Given the description of an element on the screen output the (x, y) to click on. 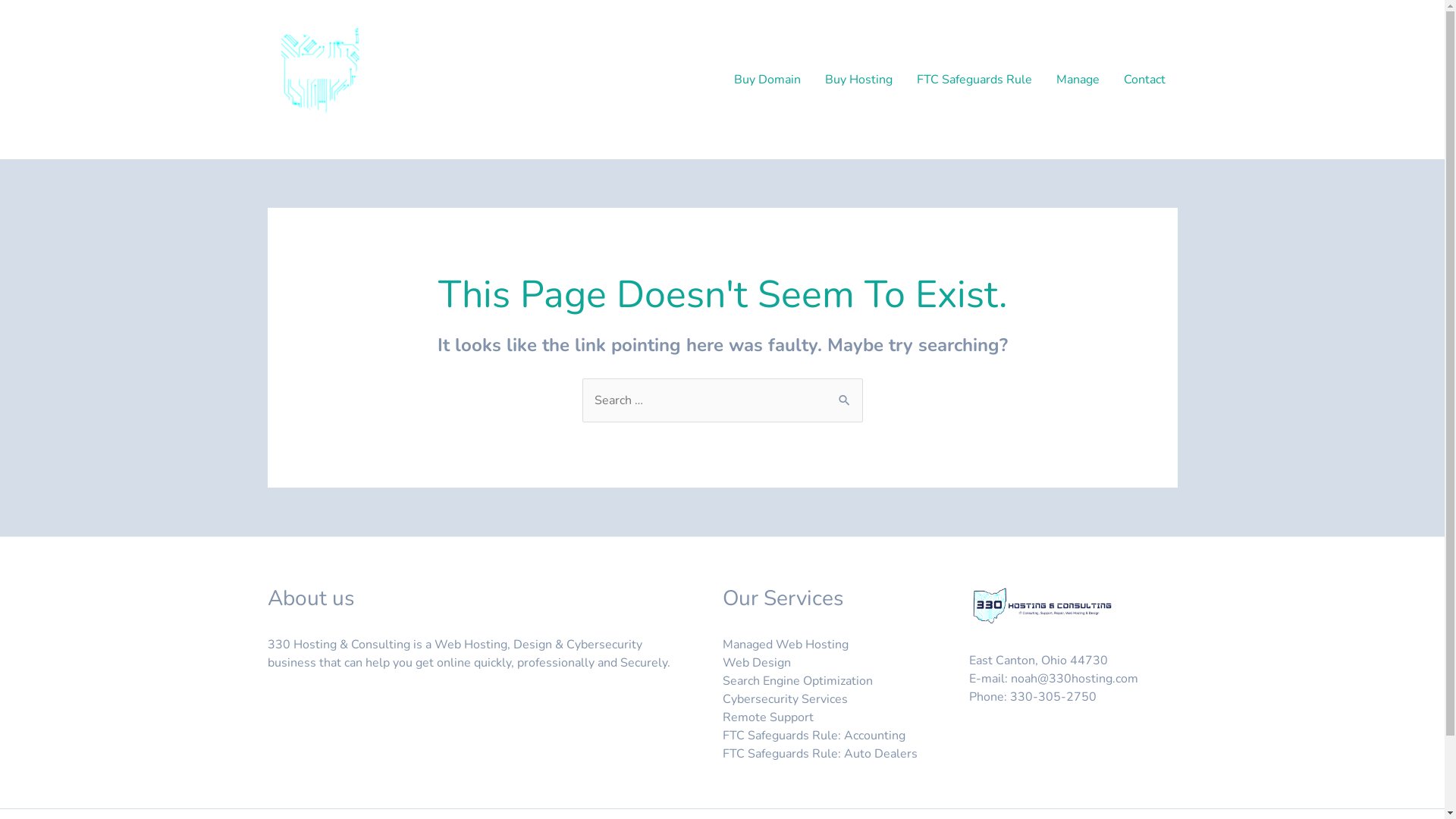
FTC Safeguards Rule: Auto Dealers Element type: text (818, 753)
Buy Domain Element type: text (766, 79)
Manage Element type: text (1076, 79)
Search Element type: text (845, 393)
Buy Hosting Element type: text (858, 79)
Search Engine Optimization Element type: text (796, 680)
Cybersecurity Services Element type: text (784, 698)
FTC Safeguards Rule: Accounting Element type: text (812, 735)
Contact Element type: text (1144, 79)
Remote Support Element type: text (766, 717)
Managed Web Hosting Element type: text (784, 644)
Web Design Element type: text (755, 662)
FTC Safeguards Rule Element type: text (973, 79)
